Given the description of an element on the screen output the (x, y) to click on. 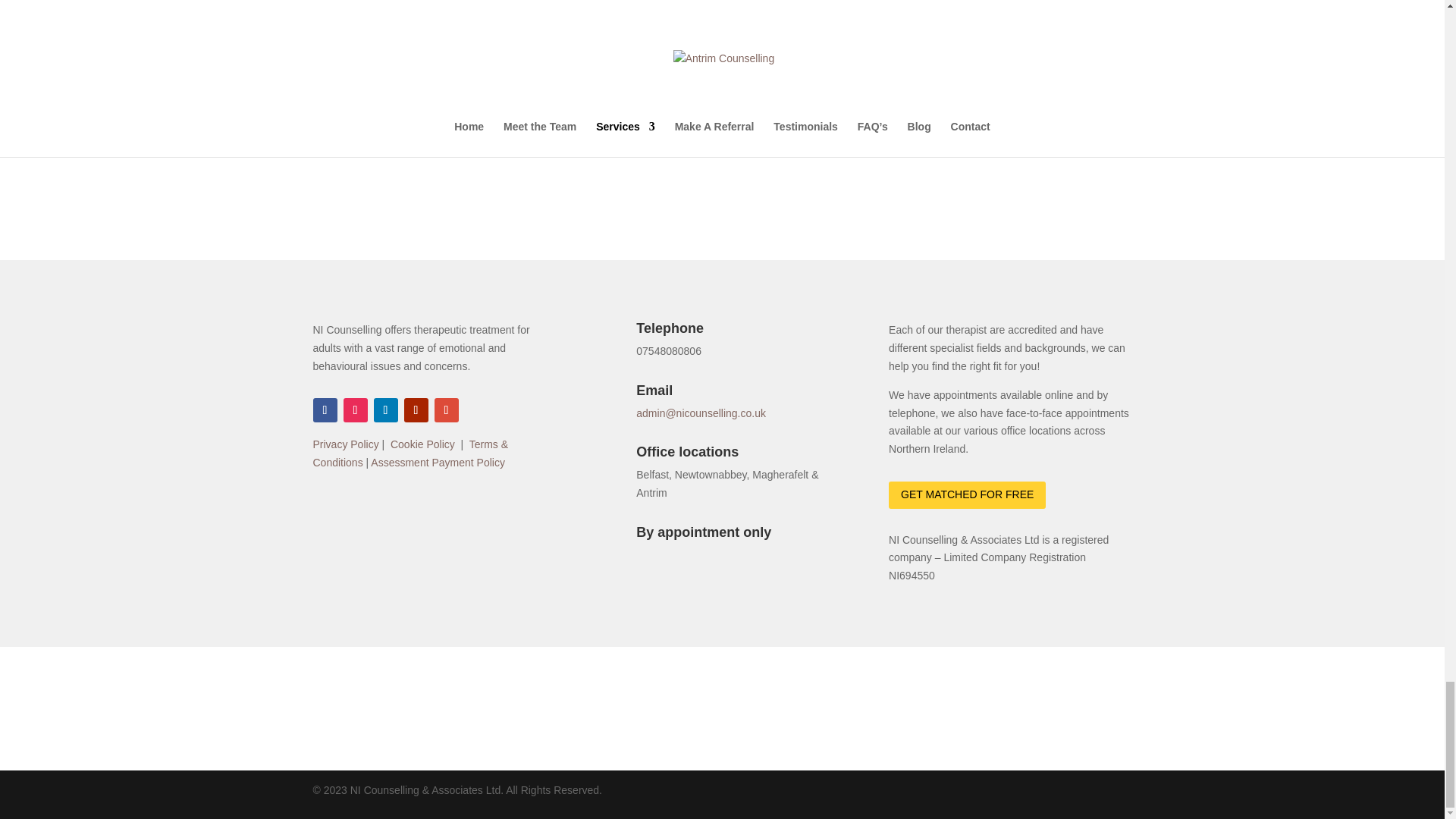
Cookie Policy (422, 444)
Follow on Youtube (415, 410)
Privacy Policy (345, 444)
Follow on google-plus (445, 410)
07548080806 (668, 350)
GET MATCHED FOR FREE (966, 494)
LEARN MORE (722, 102)
Follow on Facebook (324, 410)
Follow on Instagram (354, 410)
Assessment Payment Policy (438, 462)
